Given the description of an element on the screen output the (x, y) to click on. 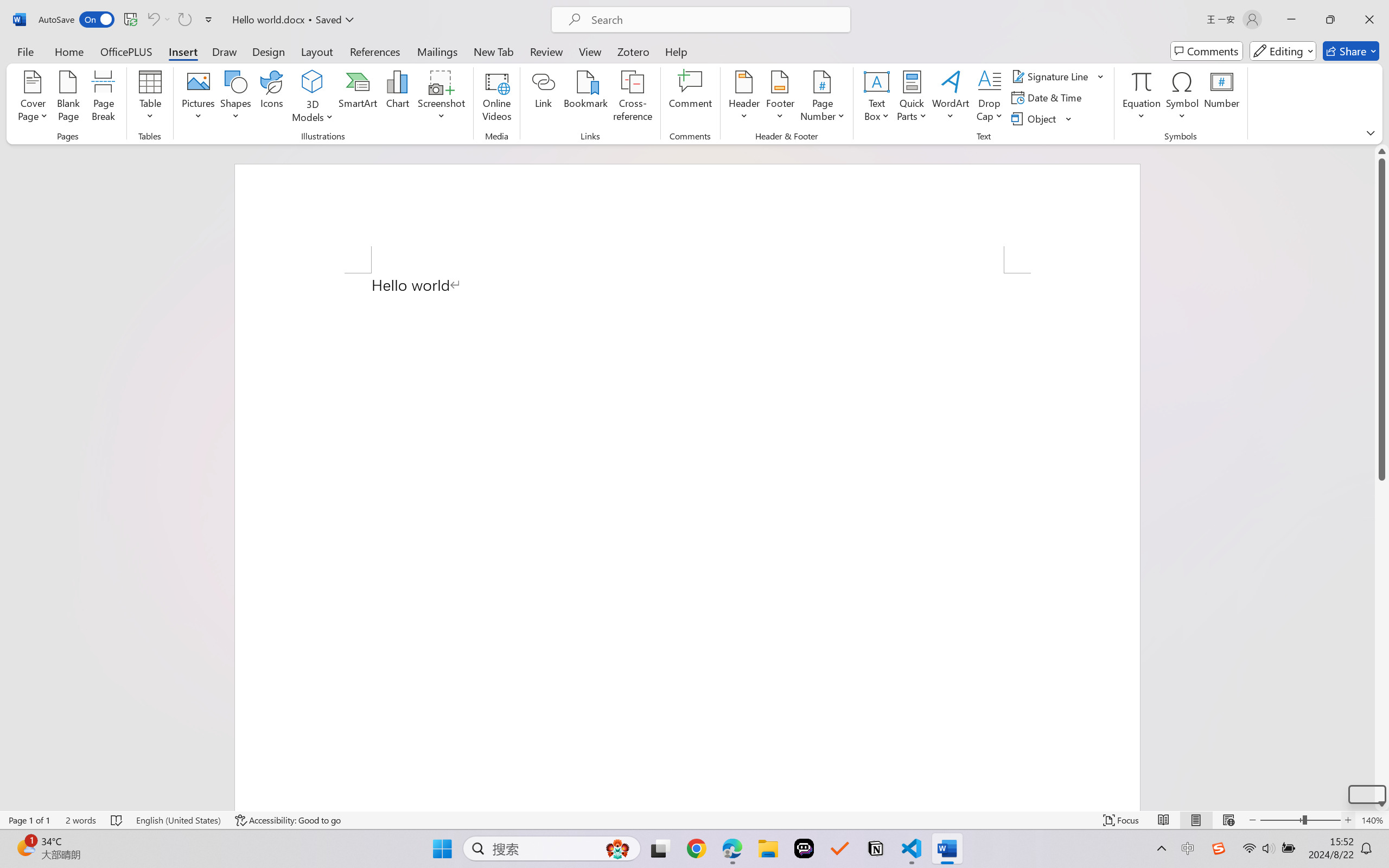
Footer (780, 97)
Restore Down (1330, 19)
